Given the description of an element on the screen output the (x, y) to click on. 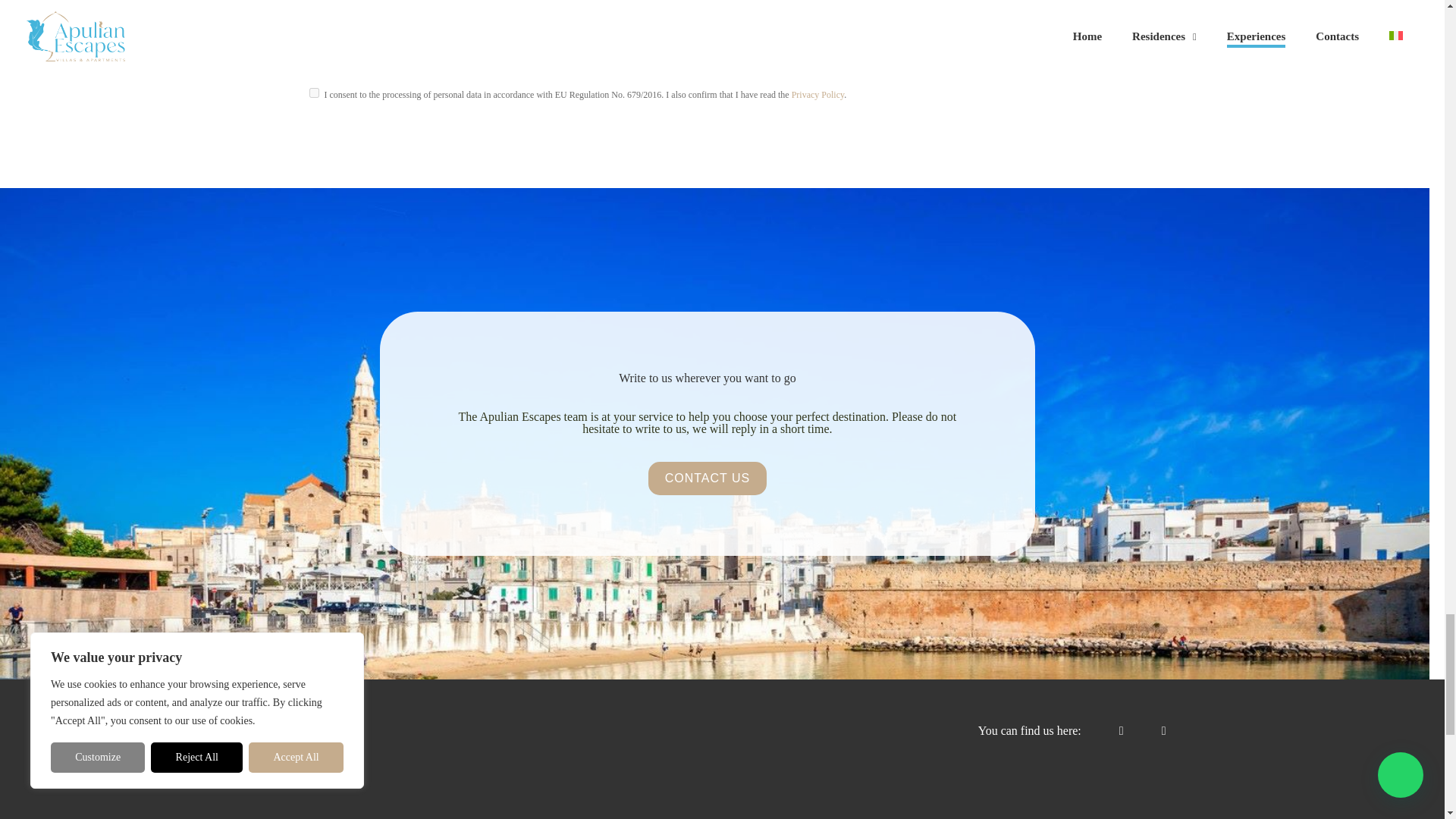
SUBSCRIVE (722, 41)
SUBSCRIVE (722, 41)
Privacy Policy (818, 94)
1 (313, 92)
CONTACT US (707, 478)
